Given the description of an element on the screen output the (x, y) to click on. 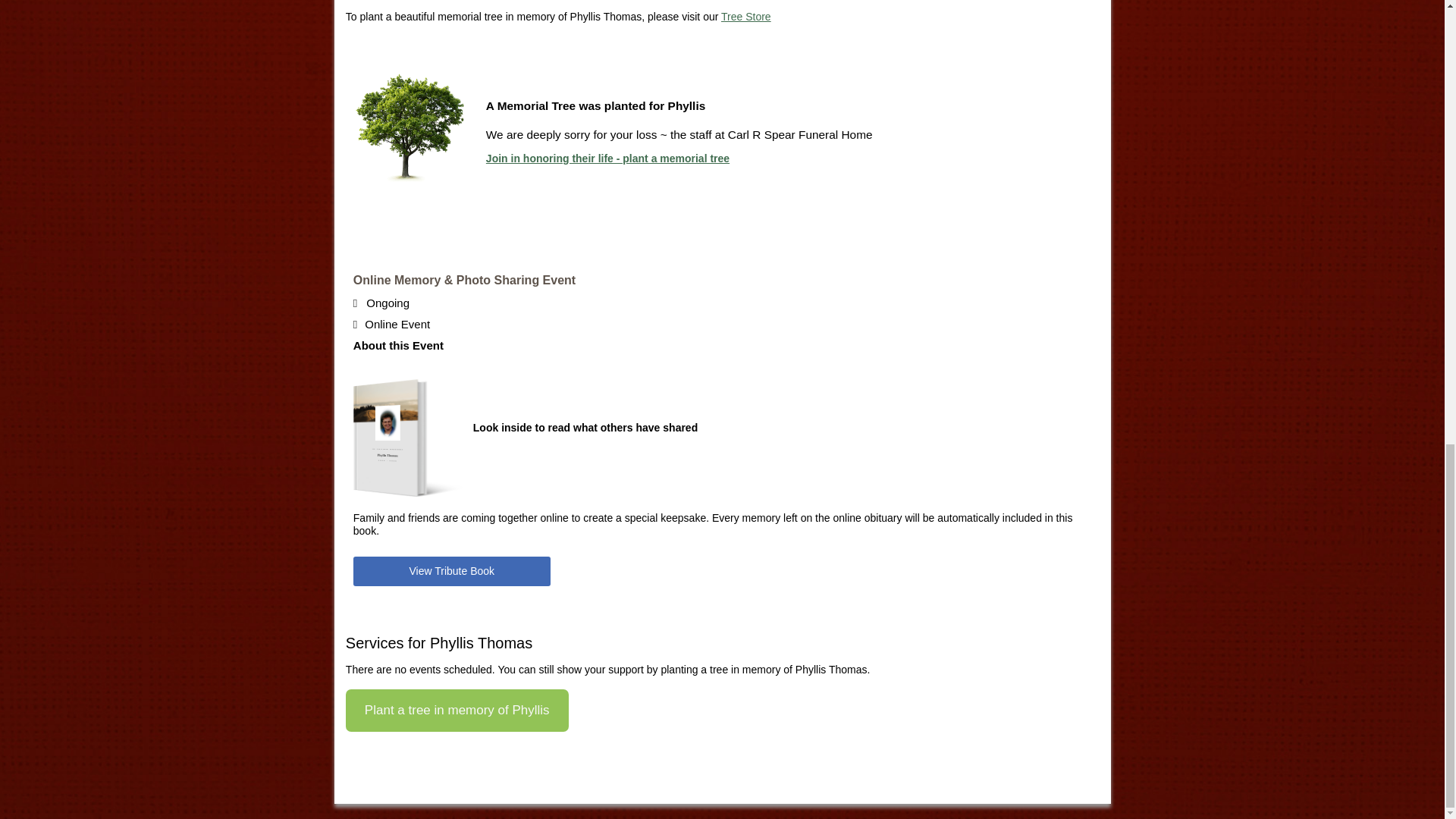
Plant a tree in memory of Phyllis (457, 710)
Tree Store (745, 16)
Join in honoring their life - plant a memorial tree (607, 158)
View Tribute Book (451, 571)
